Given the description of an element on the screen output the (x, y) to click on. 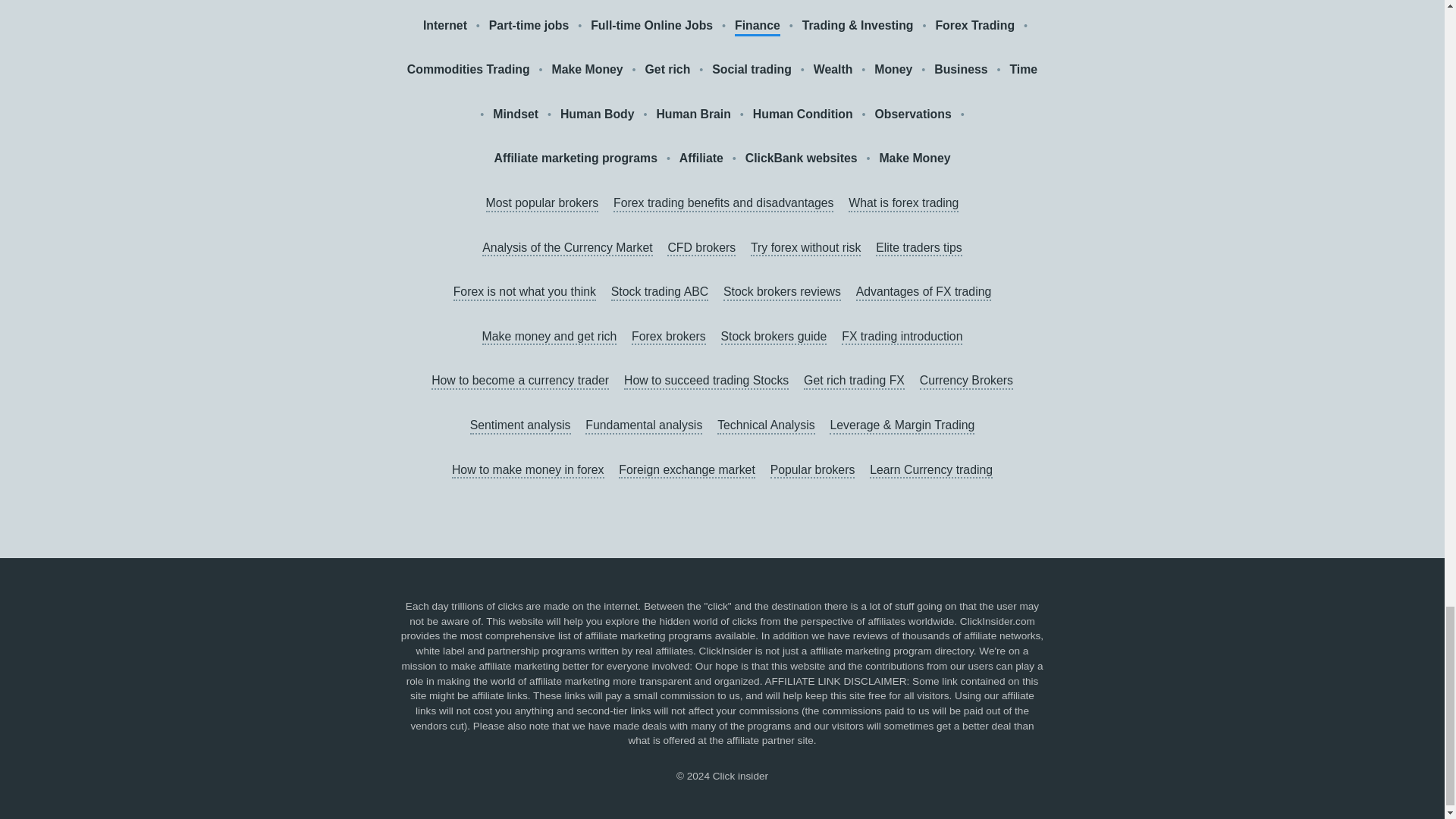
Social trading (751, 69)
Money (893, 69)
Commodities Trading (468, 69)
Wealth (833, 69)
Time (1022, 69)
Full-time Online Jobs (652, 26)
Part-time jobs (529, 26)
Get rich (667, 69)
Internet (445, 26)
Business (960, 69)
